Given the description of an element on the screen output the (x, y) to click on. 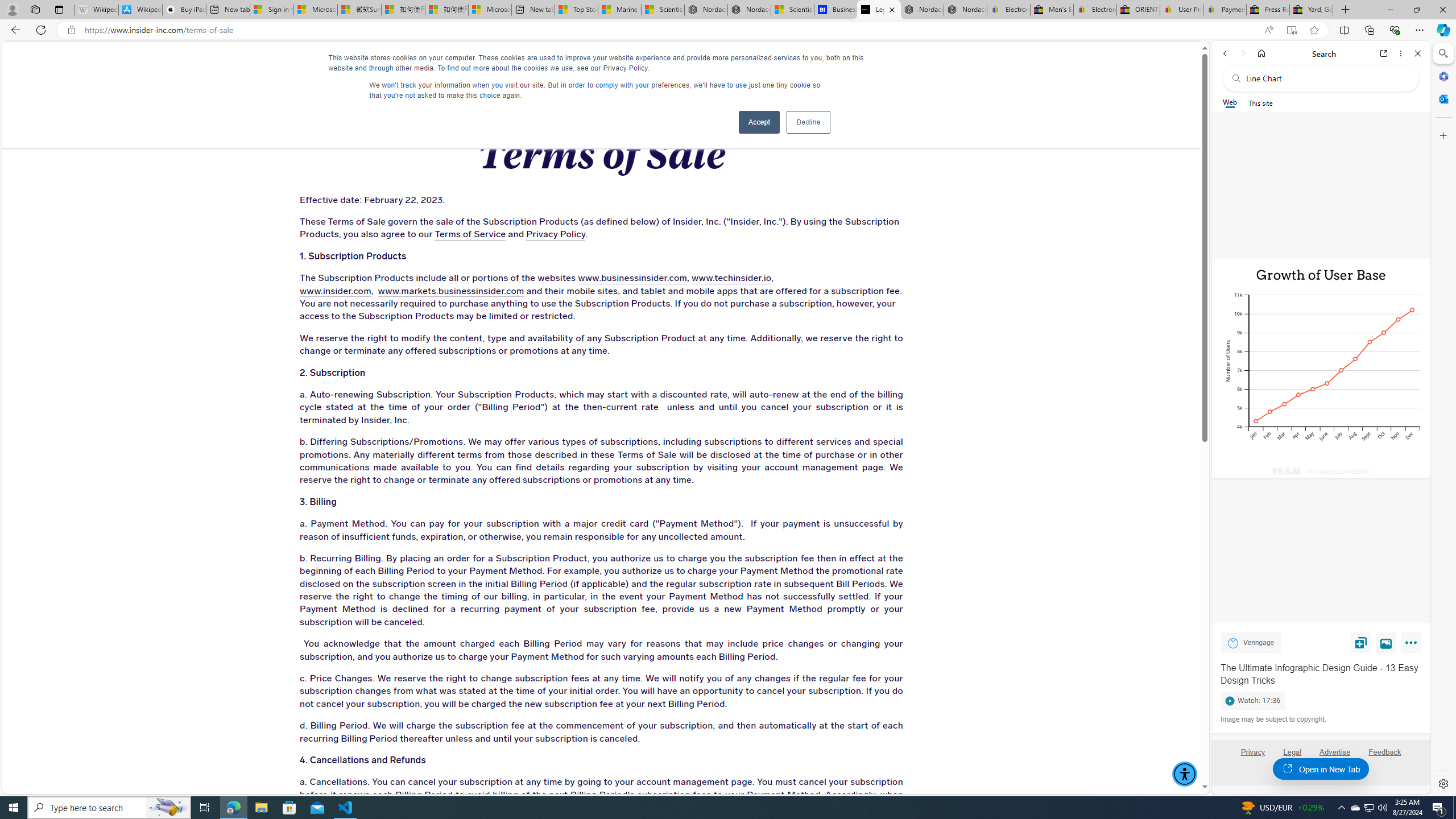
Nordace - Summer Adventures 2024 (922, 9)
NEWS (730, 62)
Microsoft account | Account Checkup (489, 9)
User Privacy Notice | eBay (1181, 9)
Yard, Garden & Outdoor Living (1311, 9)
